Given the description of an element on the screen output the (x, y) to click on. 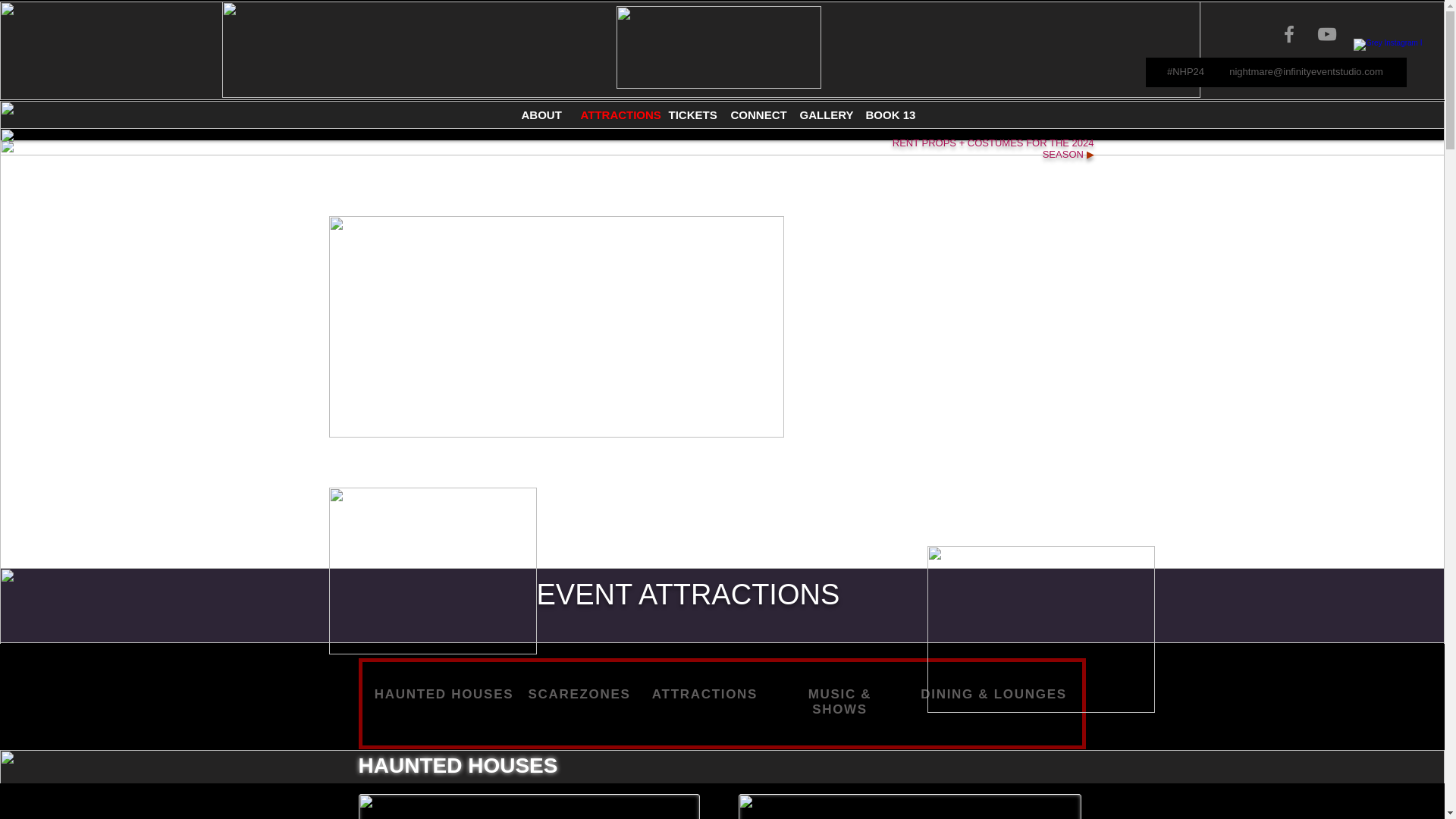
GALLERY (821, 114)
ABOUT (539, 114)
SCAREZONES (578, 694)
TICKETS (687, 114)
CONNECT (753, 114)
ATTRACTIONS (612, 114)
BOOK 13 (887, 114)
ATTRACTIONS (704, 694)
HAUNTED HOUSES (443, 694)
